Given the description of an element on the screen output the (x, y) to click on. 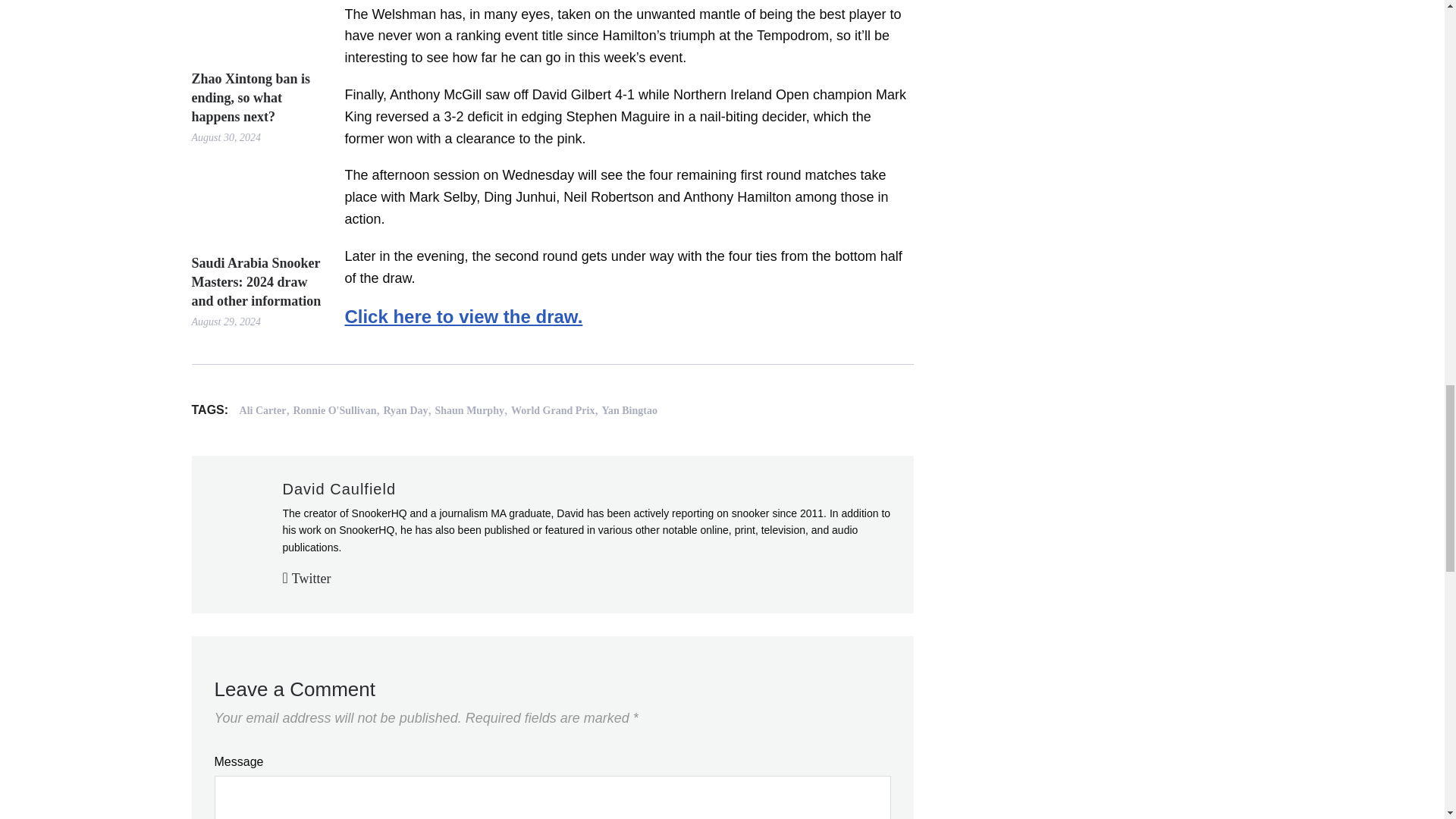
Follow David Caulfield on Twitter (306, 578)
Posts by David Caulfield (339, 488)
